Given the description of an element on the screen output the (x, y) to click on. 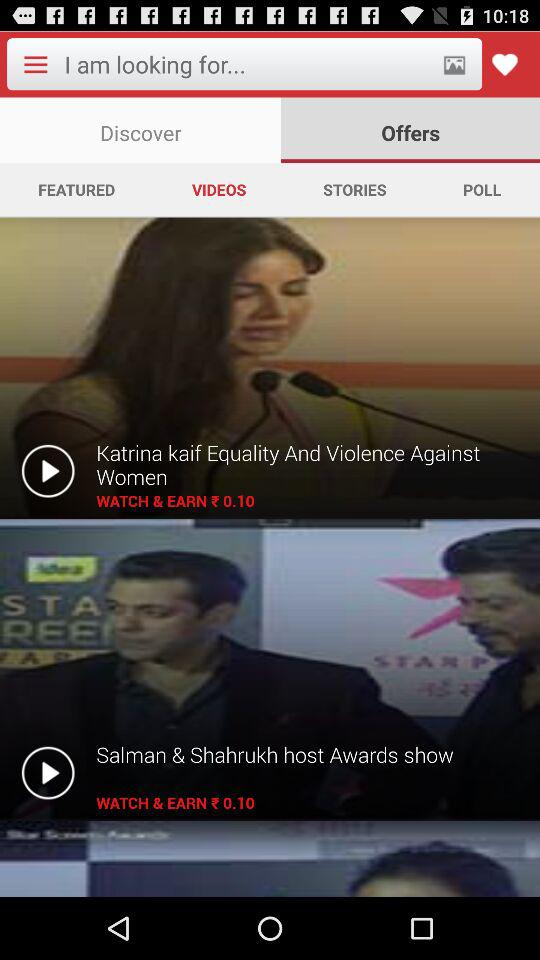
open app below the discover item (76, 189)
